Given the description of an element on the screen output the (x, y) to click on. 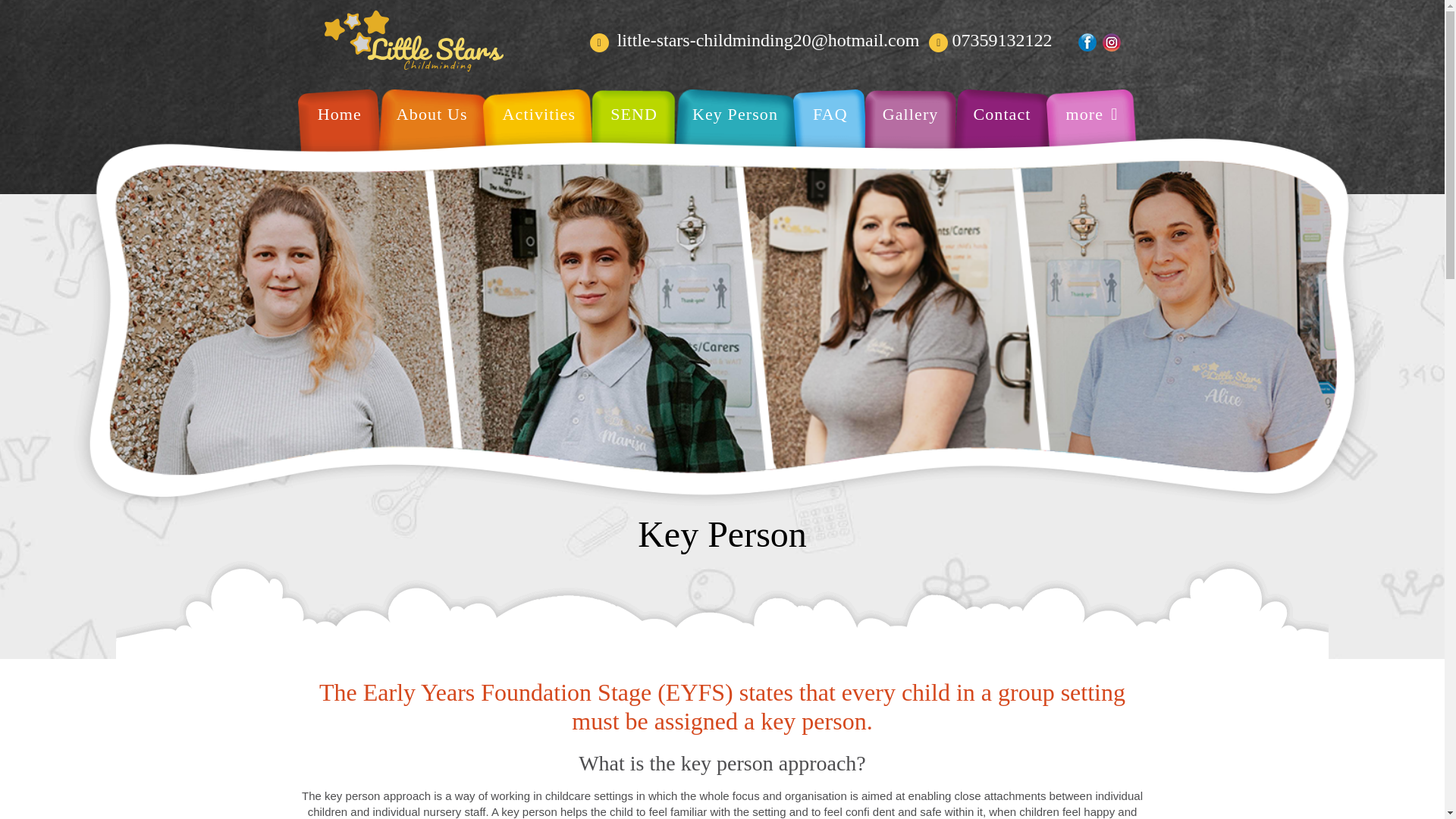
About Us (432, 137)
07359132122 (1001, 39)
Activities (539, 137)
Contact (1001, 137)
SEND (634, 137)
Gallery (910, 137)
Key Person (734, 137)
more (1092, 137)
